Given the description of an element on the screen output the (x, y) to click on. 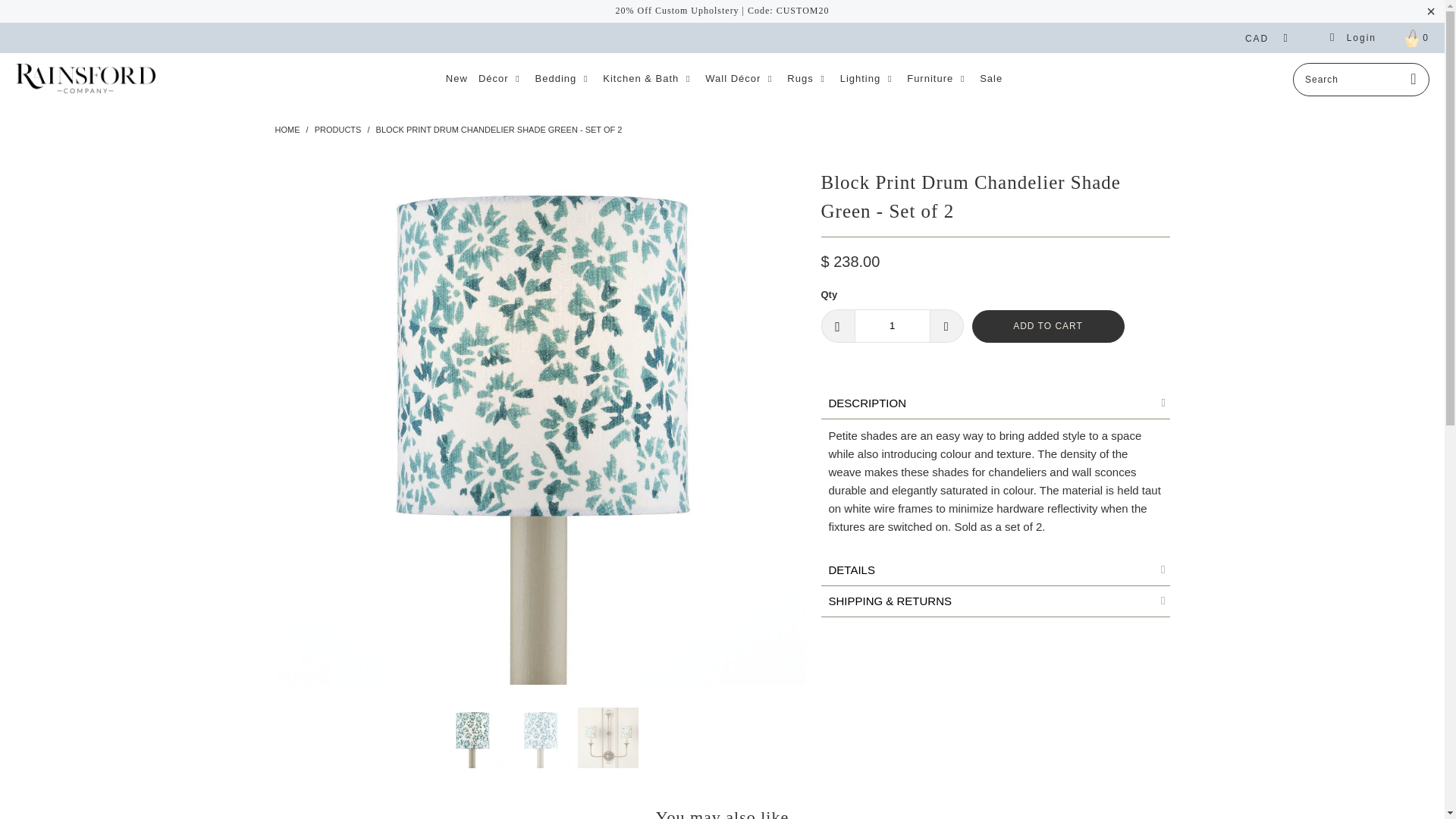
Rainsford Company (84, 79)
Rainsford Company (287, 129)
Products (337, 129)
1 (891, 326)
My Account  (1352, 37)
The Upholstery Collection (722, 9)
